Given the description of an element on the screen output the (x, y) to click on. 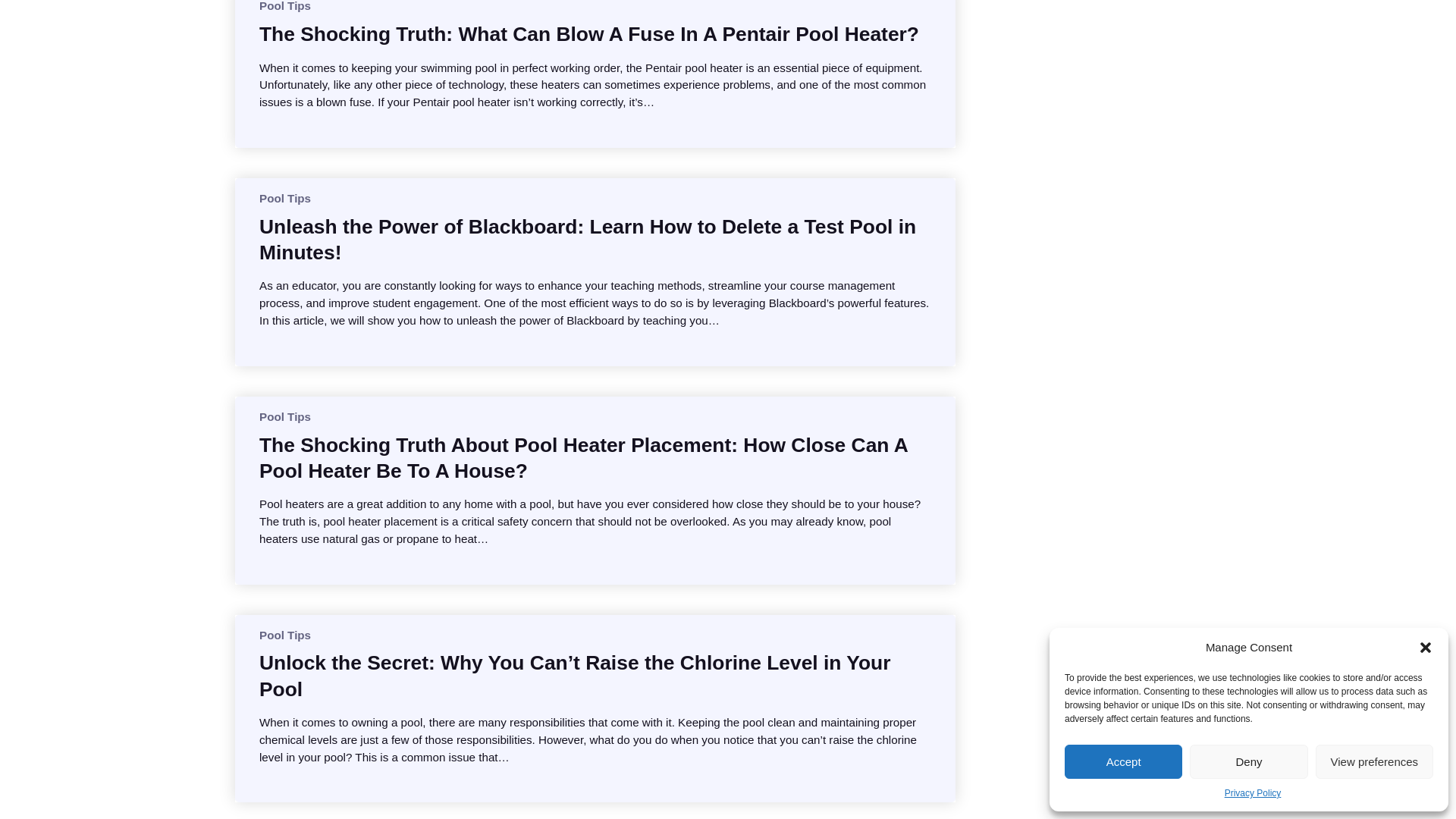
Pool Tips (285, 197)
Pool Tips (285, 634)
Pool Tips (285, 6)
Pool Tips (285, 416)
